Given the description of an element on the screen output the (x, y) to click on. 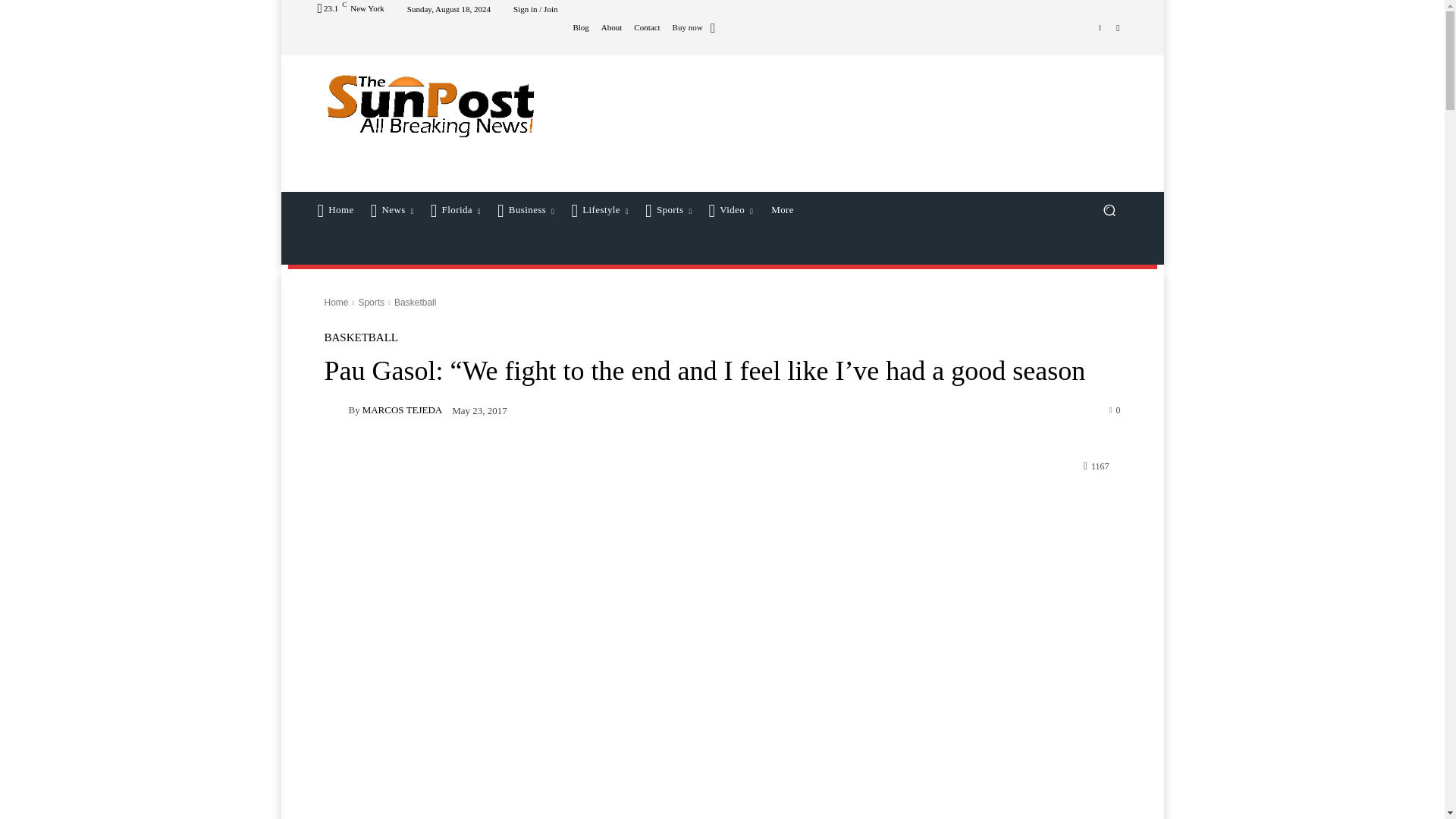
Youtube (1117, 27)
About (612, 27)
Contact (646, 27)
Blog (580, 27)
Vimeo (1099, 27)
